Given the description of an element on the screen output the (x, y) to click on. 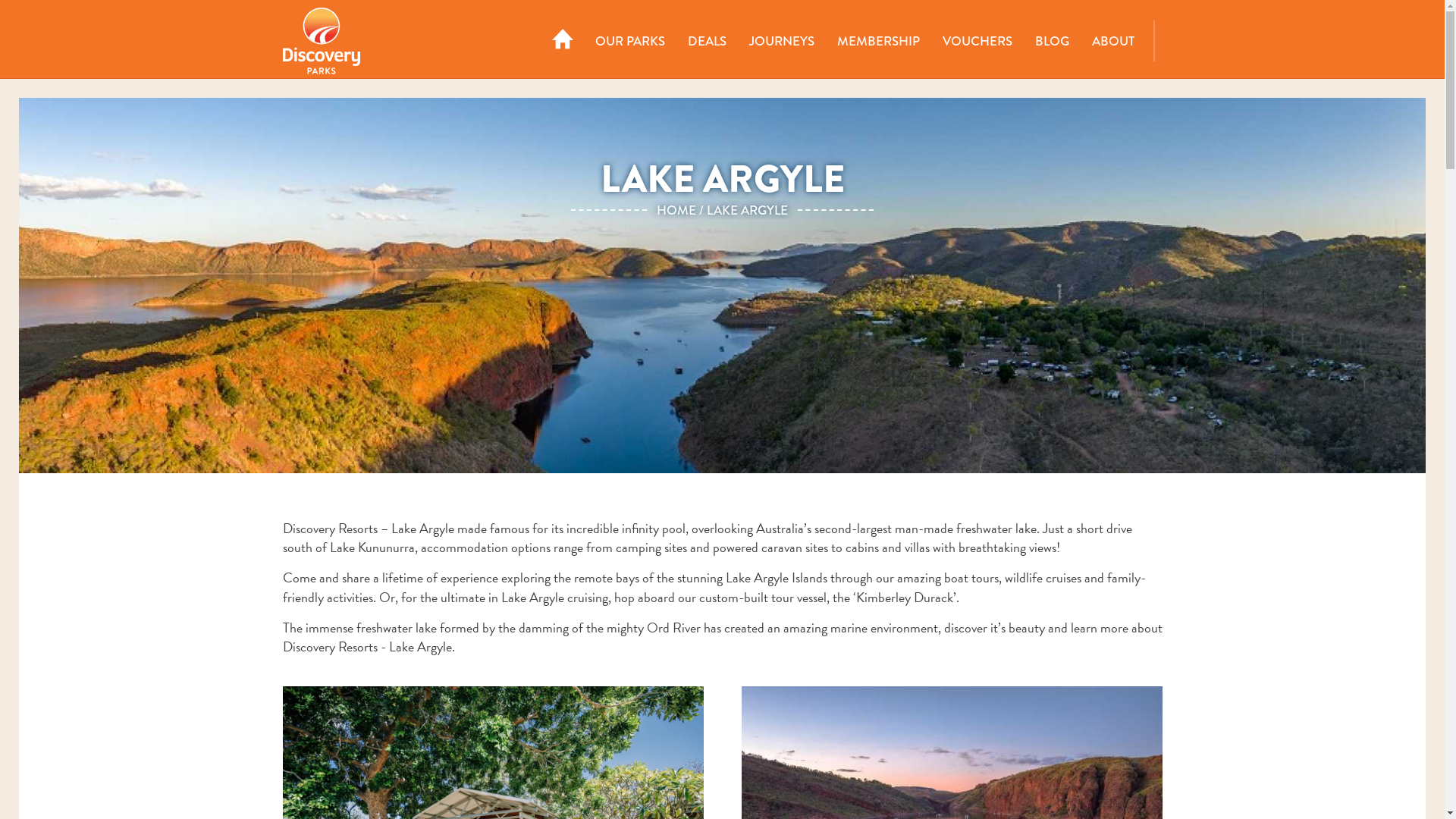
BLOG Element type: text (1051, 41)
VOUCHERS Element type: text (977, 41)
ABOUT Element type: text (1112, 41)
OUR PARKS Element type: text (629, 41)
DEALS Element type: text (706, 41)
MEMBERSHIP Element type: text (877, 41)
JOURNEYS Element type: text (781, 41)
HOME Element type: text (676, 209)
HOME Element type: text (562, 40)
